Given the description of an element on the screen output the (x, y) to click on. 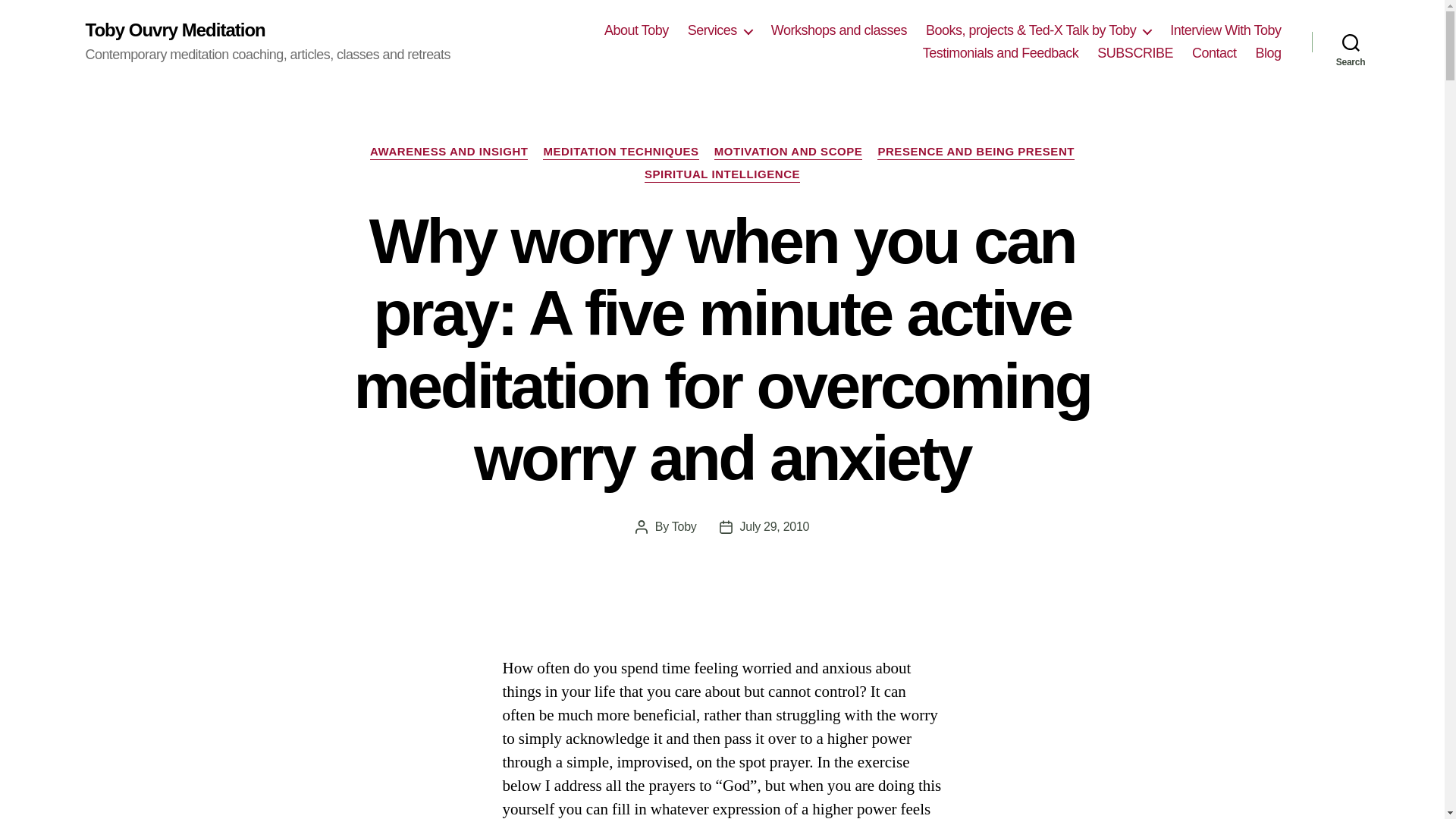
MOTIVATION AND SCOPE (788, 151)
About Toby (636, 30)
Contact (1214, 53)
Search (1350, 41)
Workshops and classes (839, 30)
AWARENESS AND INSIGHT (448, 151)
PRESENCE AND BEING PRESENT (975, 151)
Testimonials and Feedback (1000, 53)
Services (719, 30)
MEDITATION TECHNIQUES (620, 151)
